Given the description of an element on the screen output the (x, y) to click on. 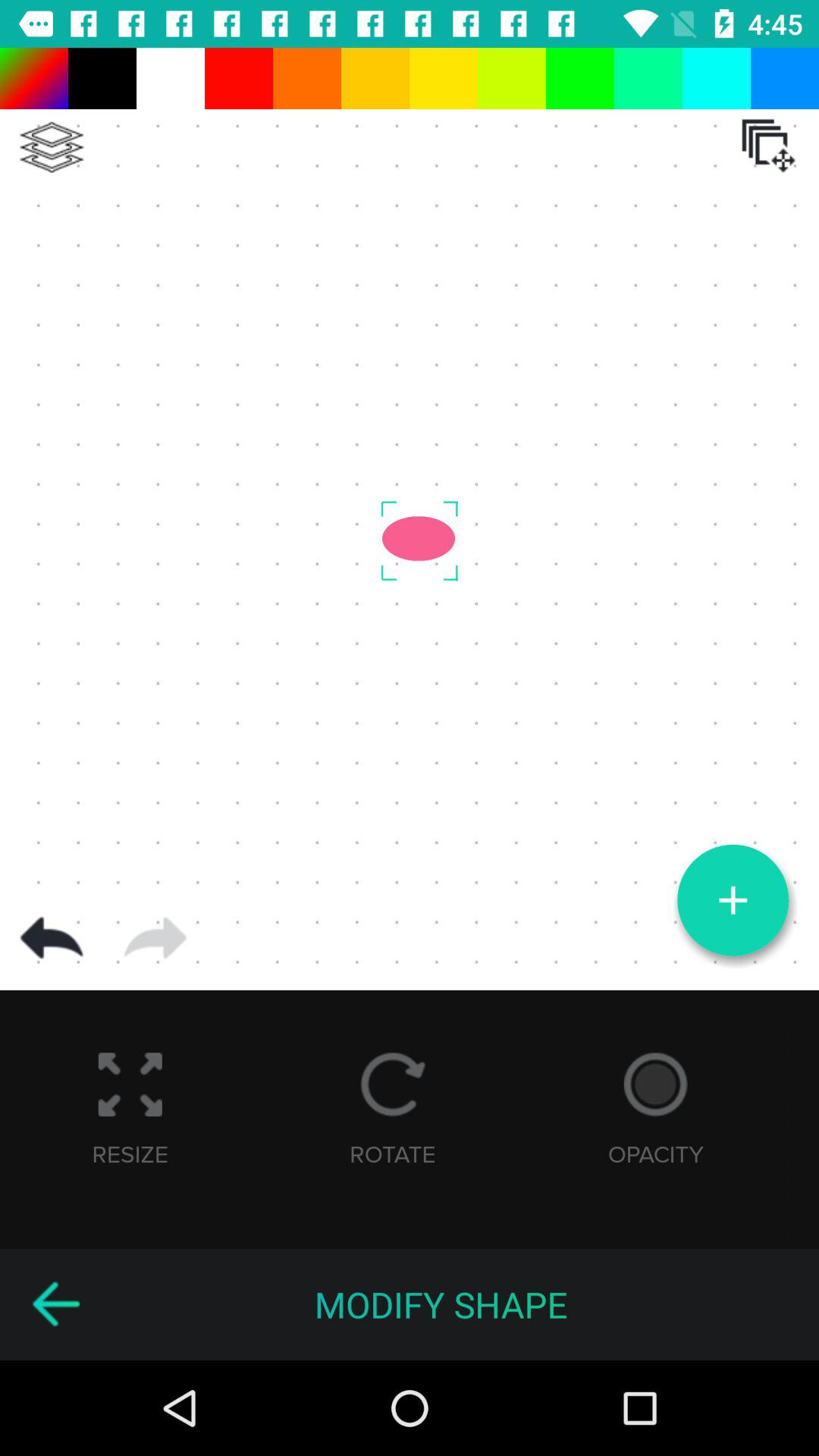
add button (733, 900)
